Given the description of an element on the screen output the (x, y) to click on. 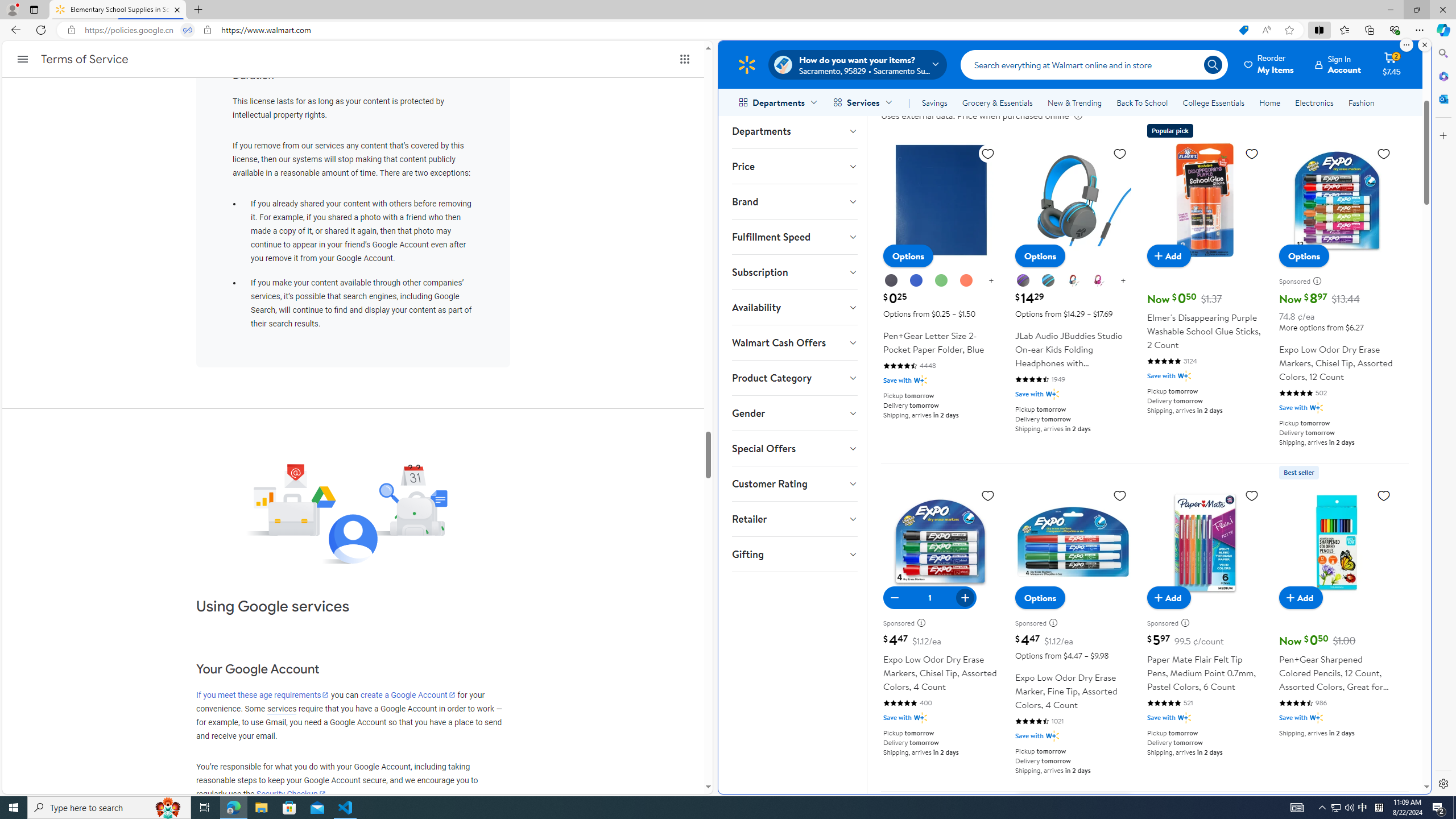
Minimize (1390, 9)
Pen+Gear Letter Size 2-Pocket Paper Folder, Blue (940, 274)
Ad disclaimer and feedback (1187, 622)
Settings and more (Alt+F) (1419, 29)
Add this page to favorites (Ctrl+D) (1289, 29)
Sign InAccount (1338, 64)
Options - Pen+Gear Letter Size 2-Pocket Paper Folder, Blue (908, 255)
Close Outlook pane (1442, 98)
Grocery & Essentials (997, 102)
Orange (966, 280)
